Given the description of an element on the screen output the (x, y) to click on. 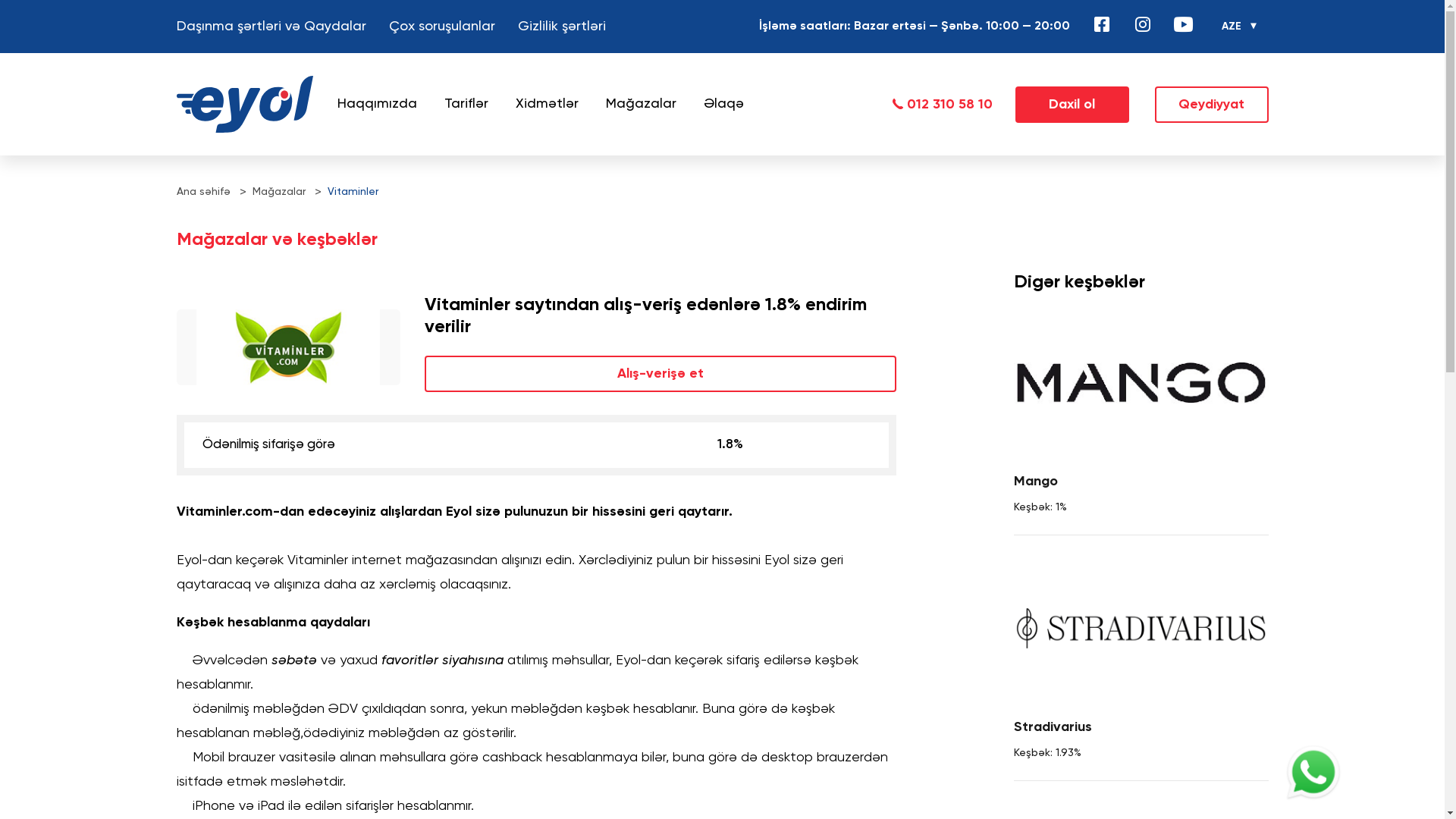
Daxil ol Element type: text (1071, 104)
Qeydiyyat Element type: text (1210, 104)
012 310 58 10 Element type: text (941, 104)
Eyol.az Element type: hover (243, 103)
Mango Element type: hover (1140, 382)
Stradivarius Element type: hover (1140, 628)
Vitaminler Element type: text (352, 191)
